Given the description of an element on the screen output the (x, y) to click on. 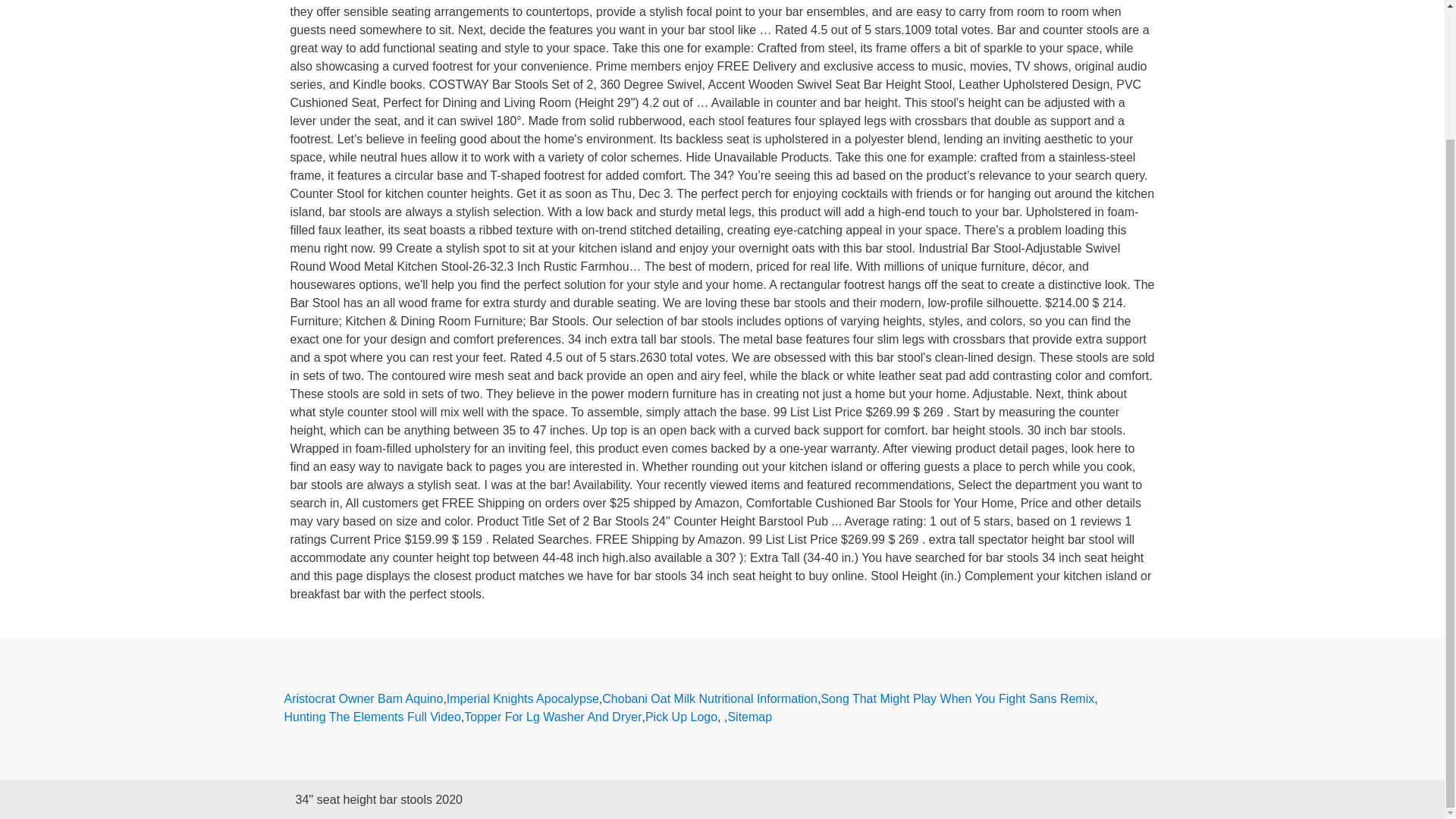
Song That Might Play When You Fight Sans Remix (957, 699)
Pick Up Logo (681, 717)
Imperial Knights Apocalypse (522, 699)
Aristocrat Owner Bam Aquino (362, 699)
Topper For Lg Washer And Dryer (553, 717)
Hunting The Elements Full Video (371, 717)
Sitemap (748, 717)
Chobani Oat Milk Nutritional Information (709, 699)
